Given the description of an element on the screen output the (x, y) to click on. 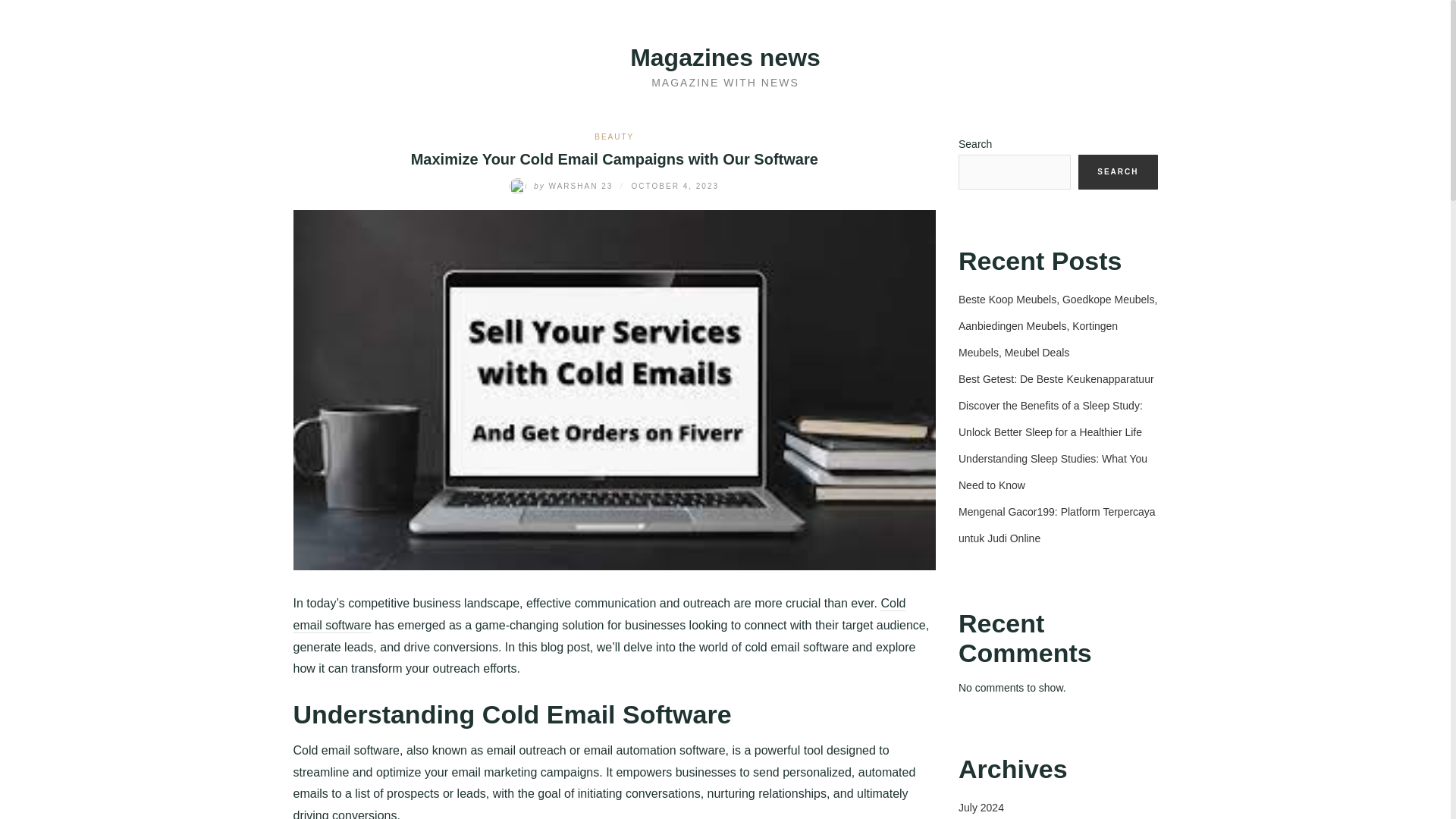
Understanding Sleep Studies: What You Need to Know (1052, 471)
SEARCH (1117, 171)
by WARSHAN 23 (562, 185)
Best Getest: De Beste Keukenapparatuur (1056, 378)
July 2024 (981, 807)
Cold email software (598, 615)
Magazines news (725, 57)
Mengenal Gacor199: Platform Terpercaya untuk Judi Online (1057, 525)
BEAUTY (613, 136)
